Given the description of an element on the screen output the (x, y) to click on. 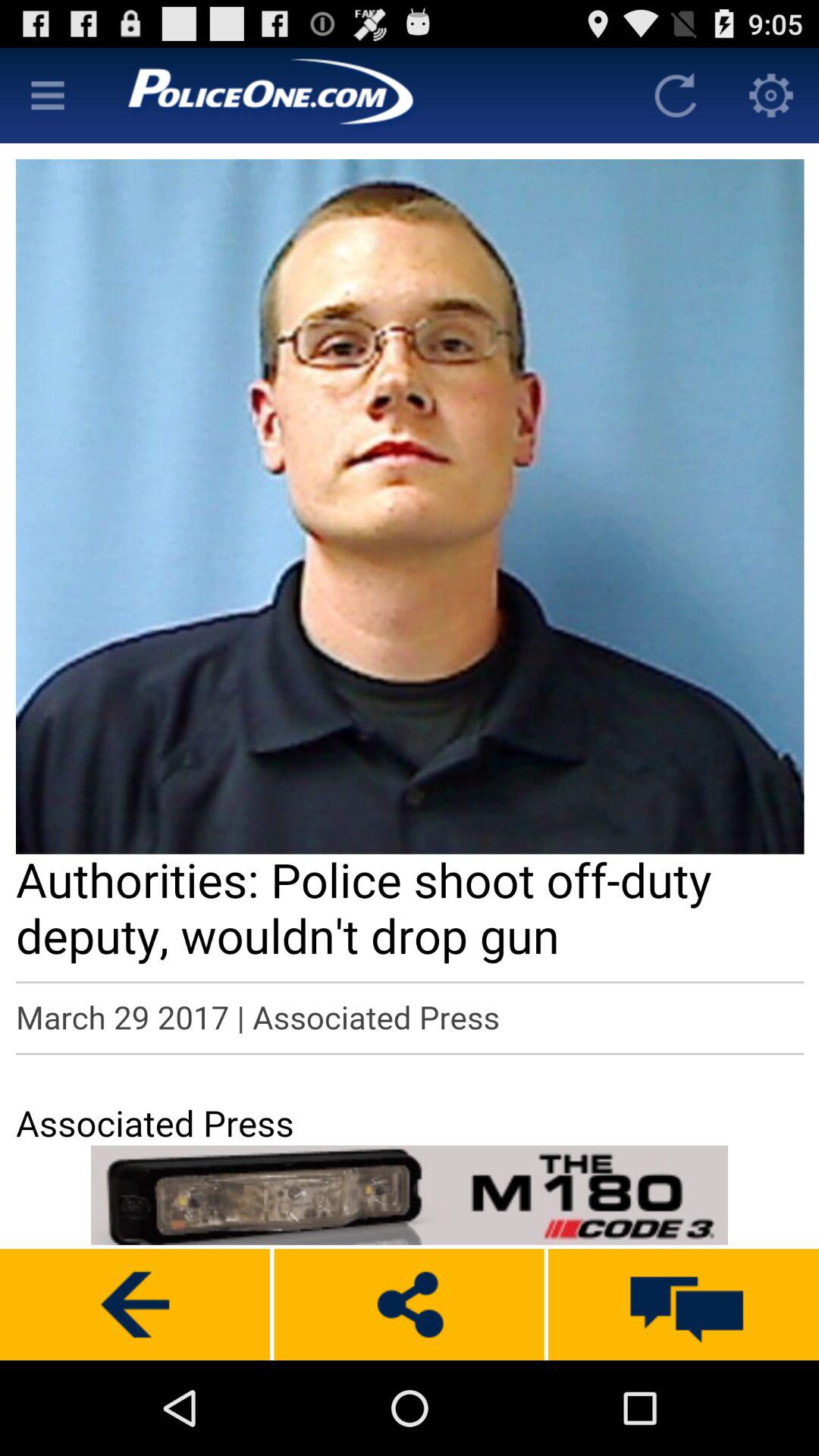
refresh the page (675, 95)
